Given the description of an element on the screen output the (x, y) to click on. 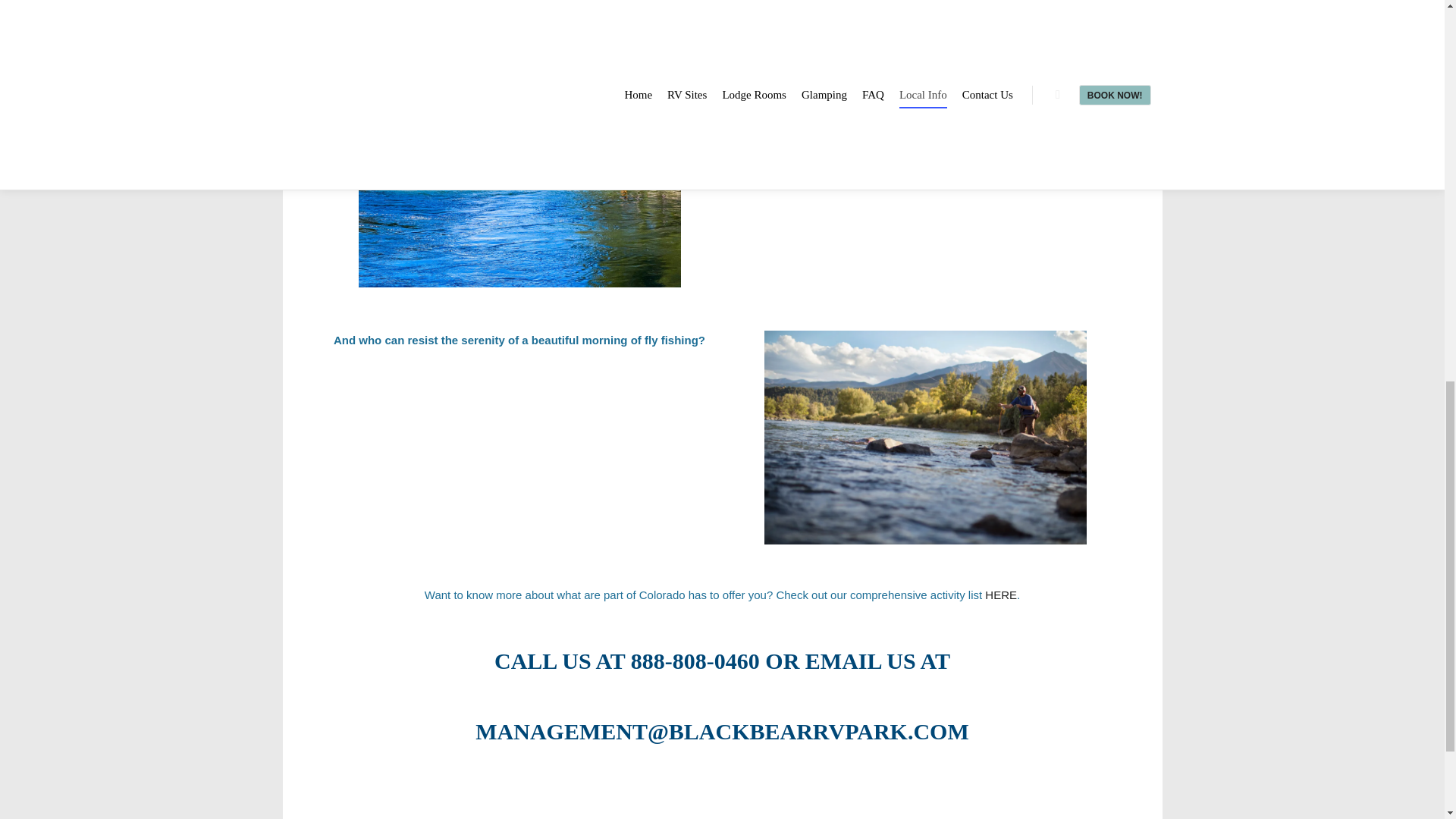
HERE (1000, 594)
